Given the description of an element on the screen output the (x, y) to click on. 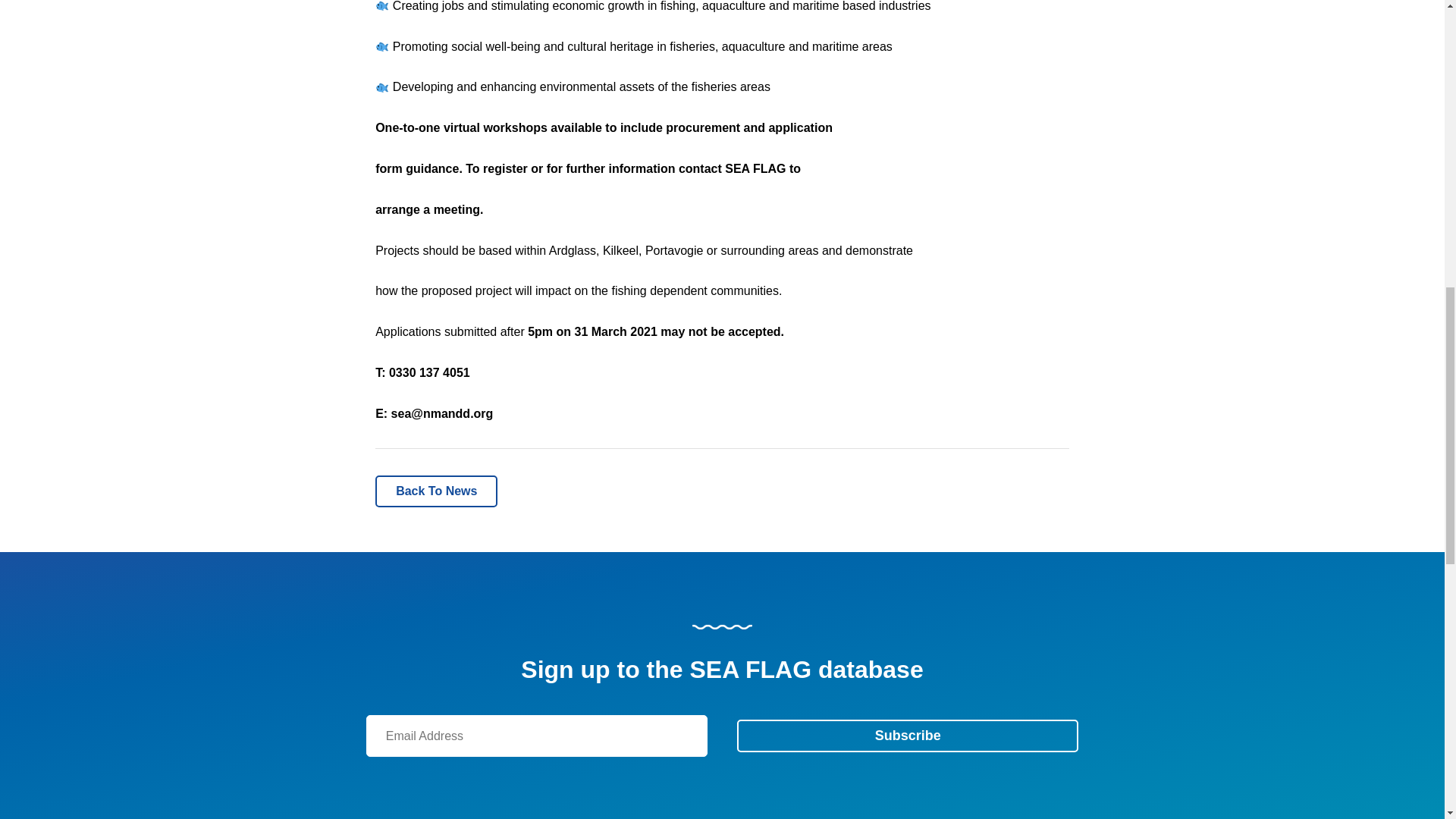
Subscribe (907, 735)
Back To News (436, 491)
Subscribe (907, 735)
